Given the description of an element on the screen output the (x, y) to click on. 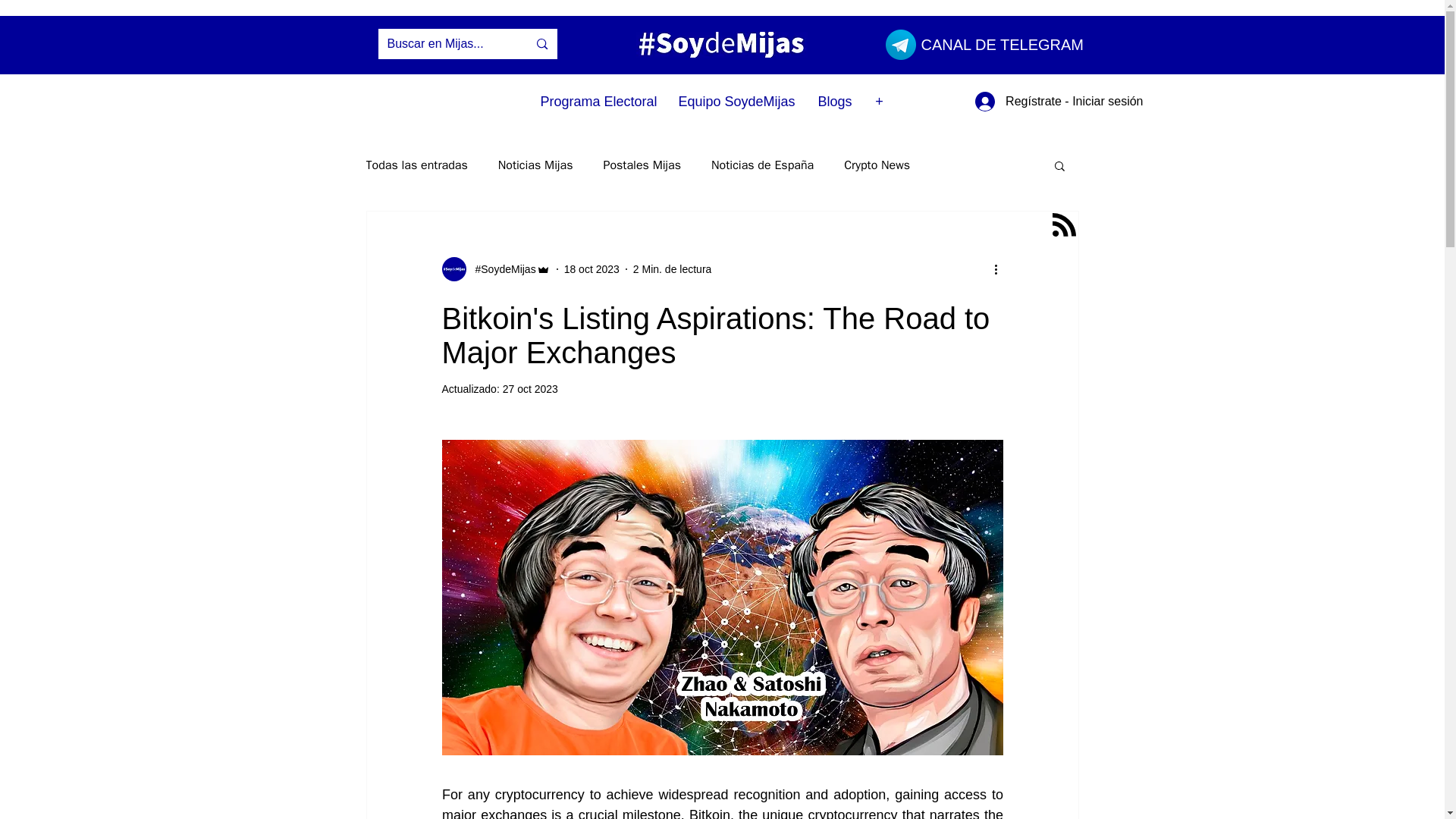
18 oct 2023 (592, 268)
27 oct 2023 (529, 388)
Equipo SoydeMijas (736, 101)
Todas las entradas (416, 165)
Programa Electoral (597, 101)
2 Min. de lectura (672, 268)
Crypto News (877, 165)
Noticias Mijas (535, 165)
Blogs (834, 101)
CANAL DE TELEGRAM (1001, 44)
